Given the description of an element on the screen output the (x, y) to click on. 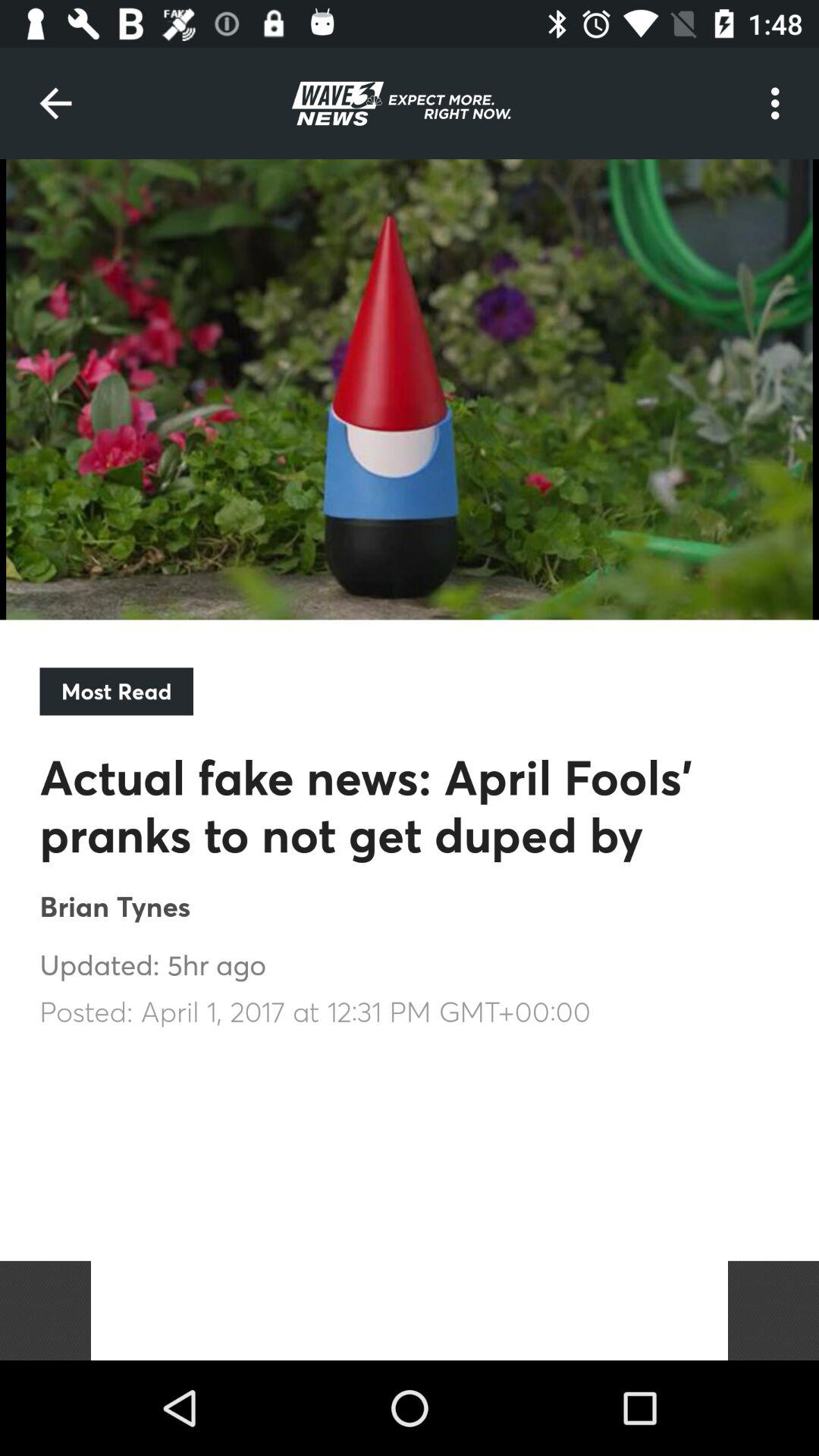
press the icon at the top right corner (779, 103)
